Given the description of an element on the screen output the (x, y) to click on. 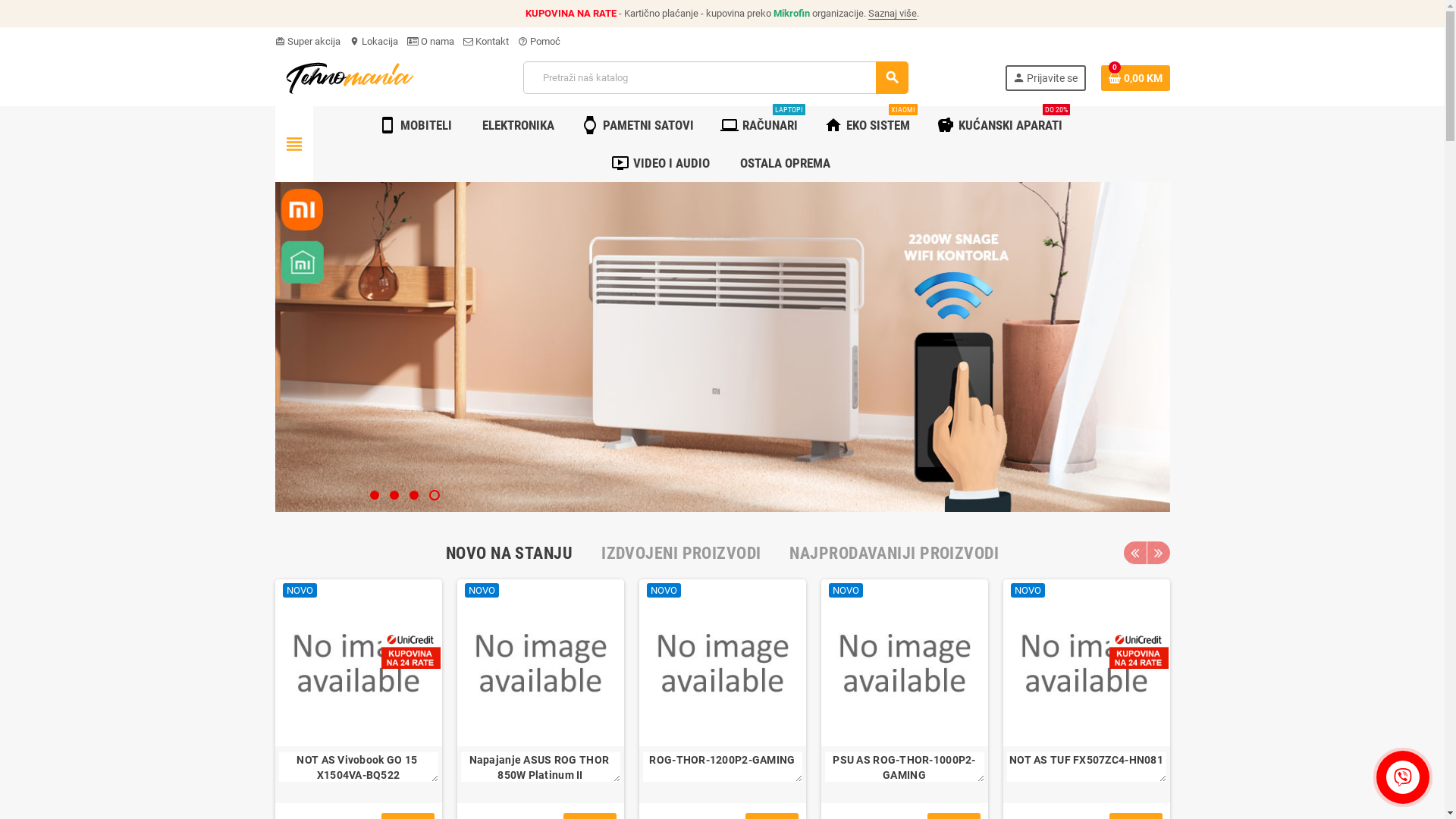
PSU AS ROG-THOR-1000P2-GAMING Element type: hover (903, 662)
0
0,00 KM Element type: text (1135, 78)
PAMETNI SATOVI Element type: text (639, 125)
NOT AS Vivobook GO 15 X1504VA-BQ522 Element type: text (358, 766)
Napajanje ASUS ROG THOR 850W Platinum II Element type: text (540, 766)
4 Element type: text (434, 494)
Next Element type: text (1157, 552)
O nama Element type: text (429, 41)
3 Element type: text (414, 494)
VIDEO I AUDIO Element type: text (662, 163)
card_giftcard Super akcija Element type: text (306, 41)
person
Prijavite se Element type: text (1045, 77)
1 Element type: text (374, 494)
location_on Lokacija Element type: text (372, 41)
NOT AS TUF FX507ZC4-HN081 Element type: text (1086, 766)
Kontakt Element type: text (485, 41)
NOT AS TUF FX507ZC4-HN081 Element type: hover (1085, 662)
NAJPRODAVANIJI PROIZVODI Element type: text (894, 552)
Previous Element type: text (1134, 552)
NOVO NA STANJU Element type: text (508, 552)
search Element type: text (891, 77)
IZDVOJENI PROIZVODI Element type: text (680, 552)
EKO SISTEM
XIAOMI Element type: text (868, 125)
ROG-THOR-1200P2-GAMING Element type: text (722, 766)
Napajanje ASUS ROG THOR 850W Platinum II Element type: hover (539, 662)
PSU AS ROG-THOR-1000P2-GAMING Element type: text (904, 766)
MOBITELI Element type: text (416, 125)
NOT AS Vivobook GO 15 X1504VA-BQ522 Element type: hover (357, 662)
ROG-THOR-1200P2-GAMING Element type: hover (721, 662)
TehnoMania - Pametna kupovina Element type: hover (350, 76)
2 Element type: text (393, 494)
